Given the description of an element on the screen output the (x, y) to click on. 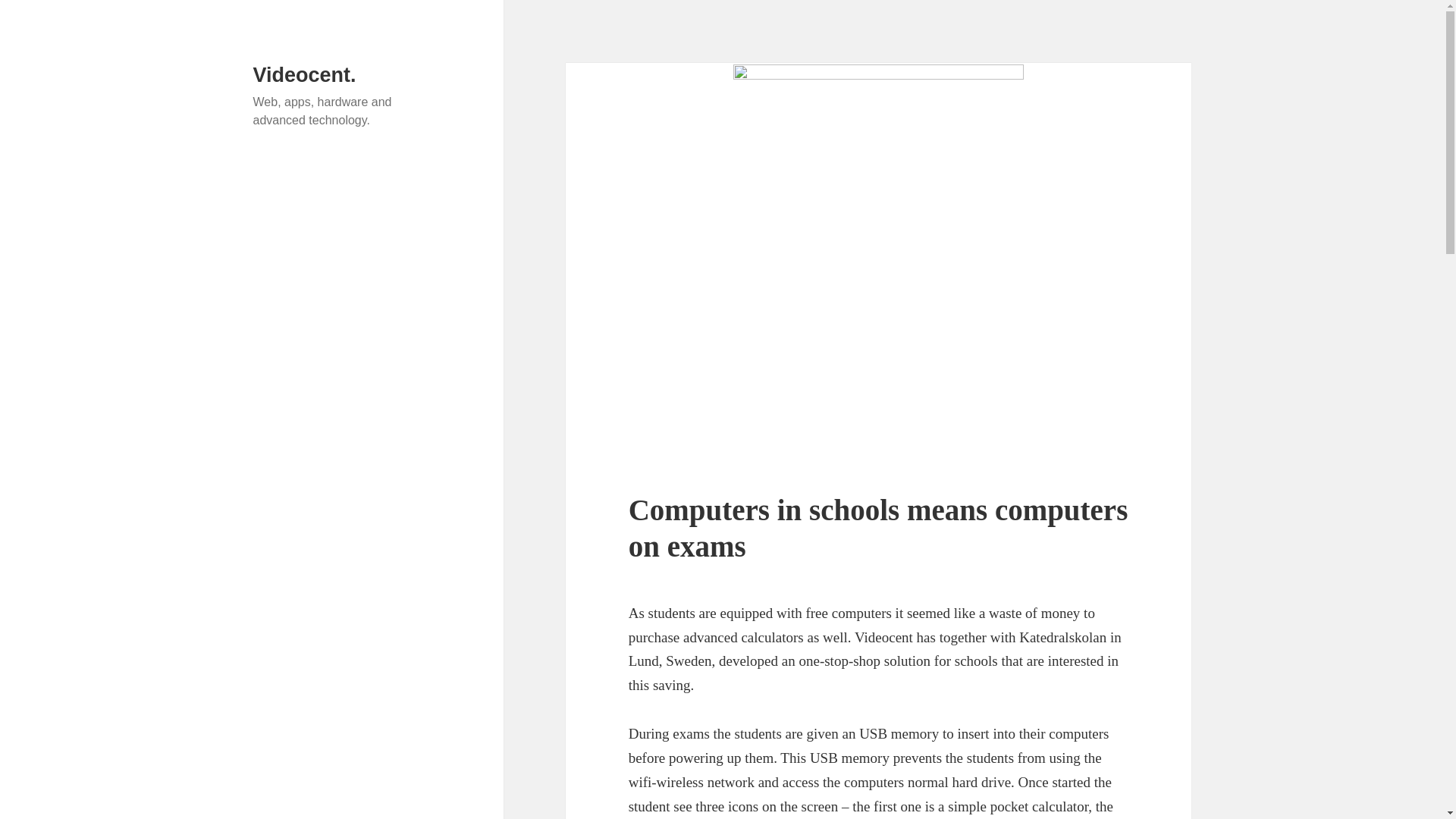
Videocent. (304, 74)
